Given the description of an element on the screen output the (x, y) to click on. 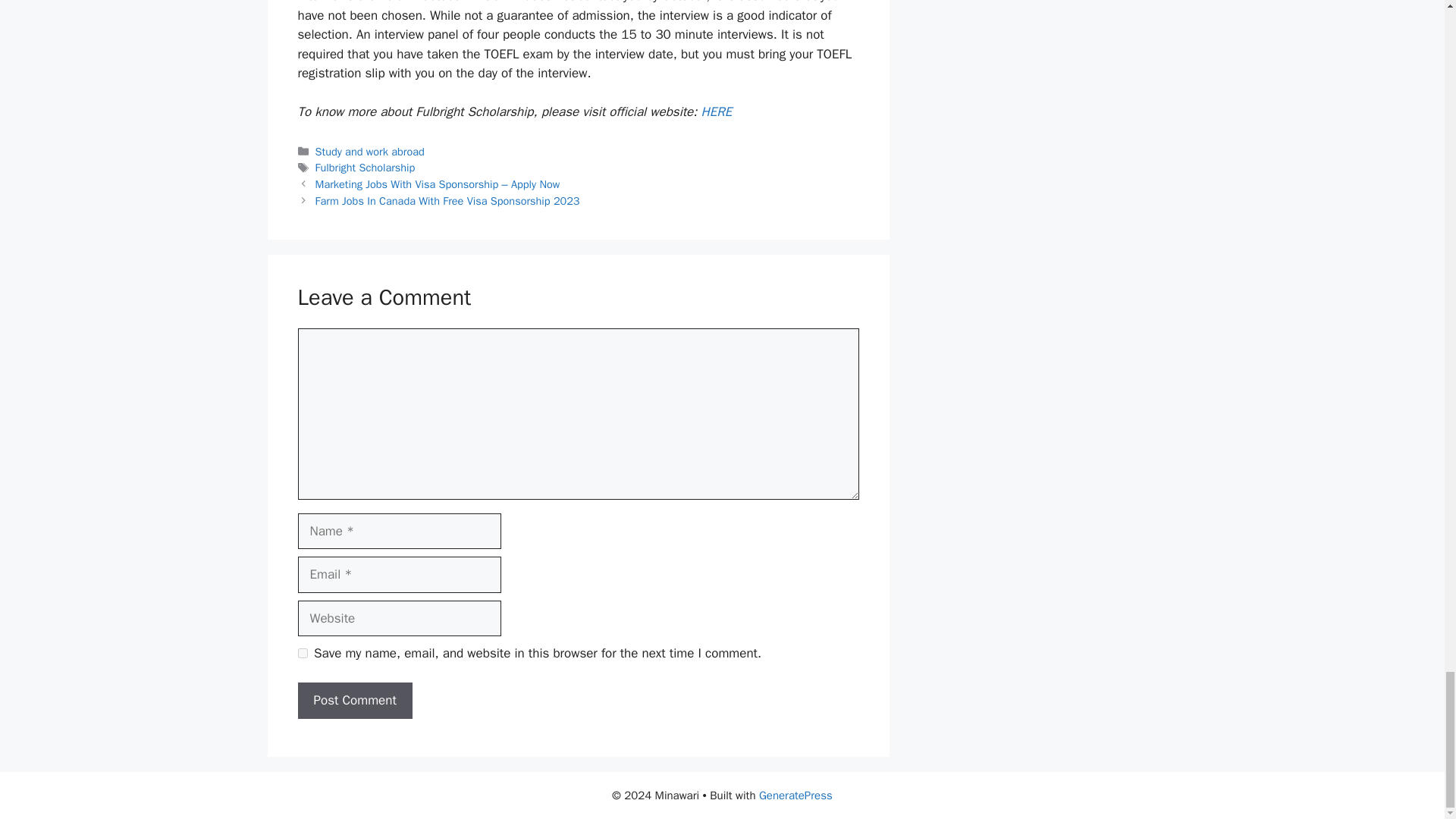
HERE (716, 111)
GeneratePress (795, 795)
yes (302, 653)
Post Comment (354, 700)
Study and work abroad (370, 151)
Post Comment (354, 700)
Farm Jobs In Canada With Free Visa Sponsorship 2023 (447, 201)
Fulbright Scholarship (364, 167)
